Given the description of an element on the screen output the (x, y) to click on. 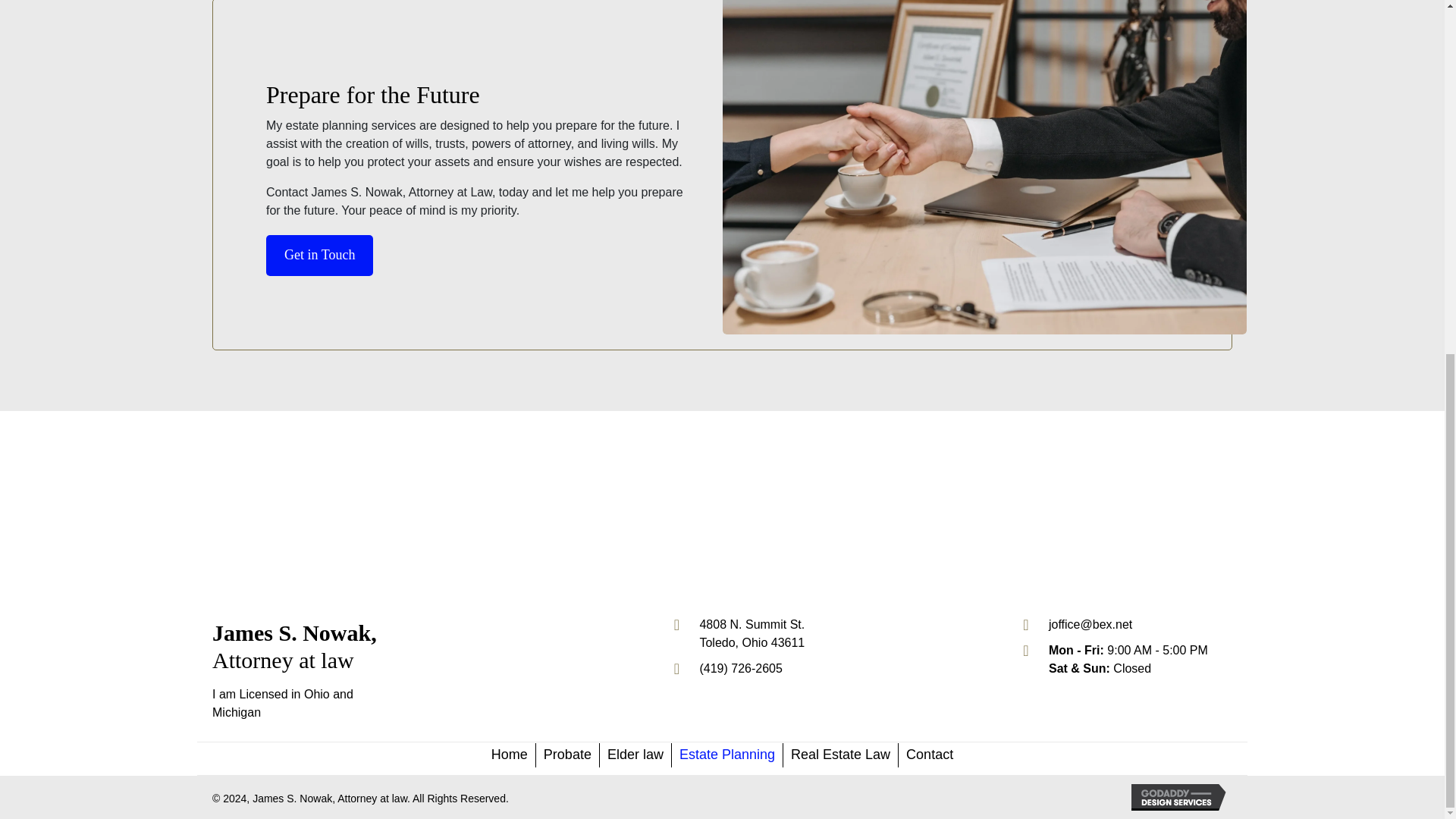
Elder law (635, 754)
Real Estate Law (840, 754)
Home (509, 754)
Contact (929, 754)
Estate Planning (727, 754)
Get in Touch (319, 255)
Probate (751, 633)
James S. Nowak, Attorney at law (566, 754)
